Given the description of an element on the screen output the (x, y) to click on. 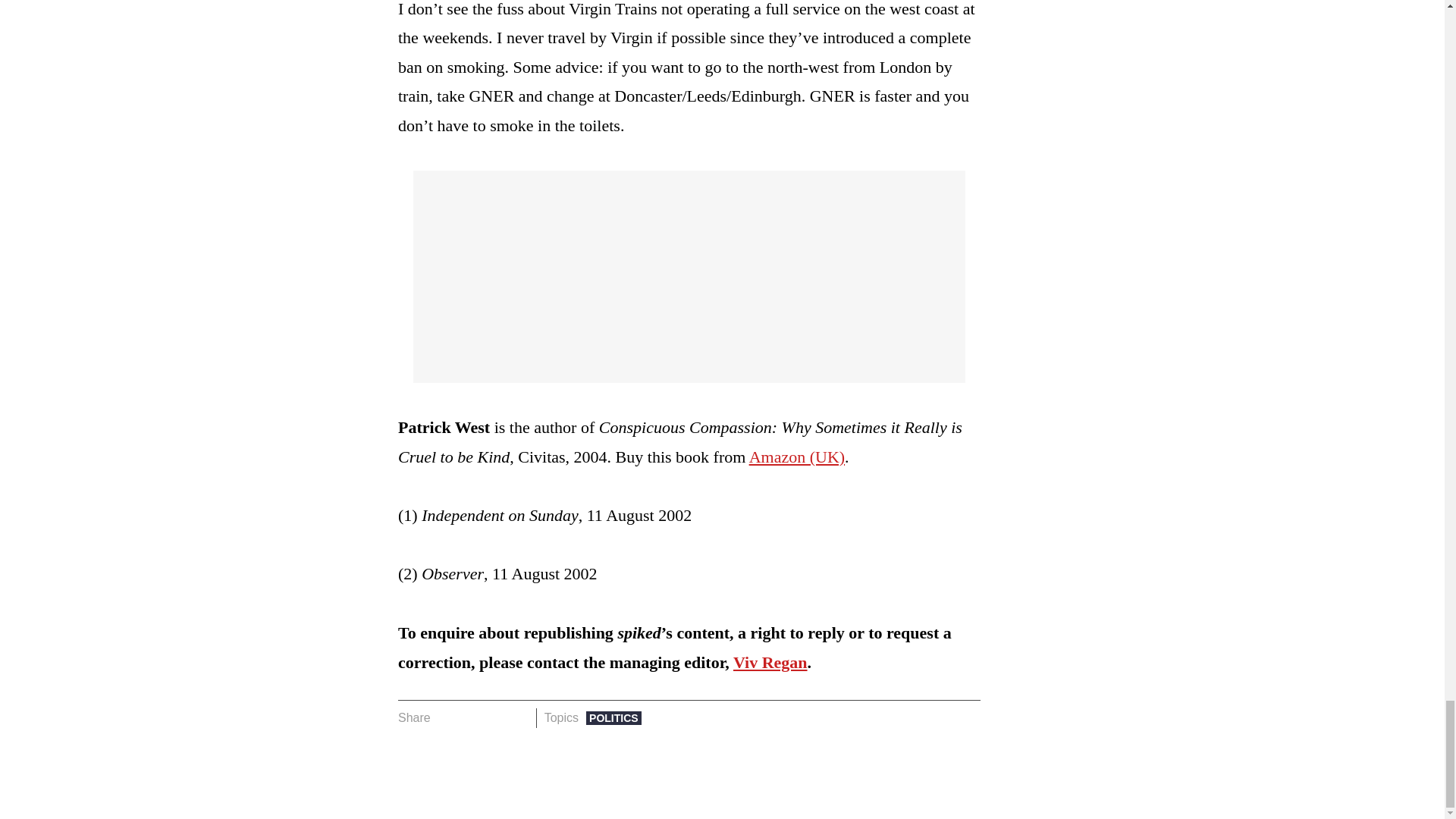
Share on Twitter (471, 718)
Share on Email (518, 718)
Share on Facebook (448, 718)
Share on Whatsapp (494, 718)
